Given the description of an element on the screen output the (x, y) to click on. 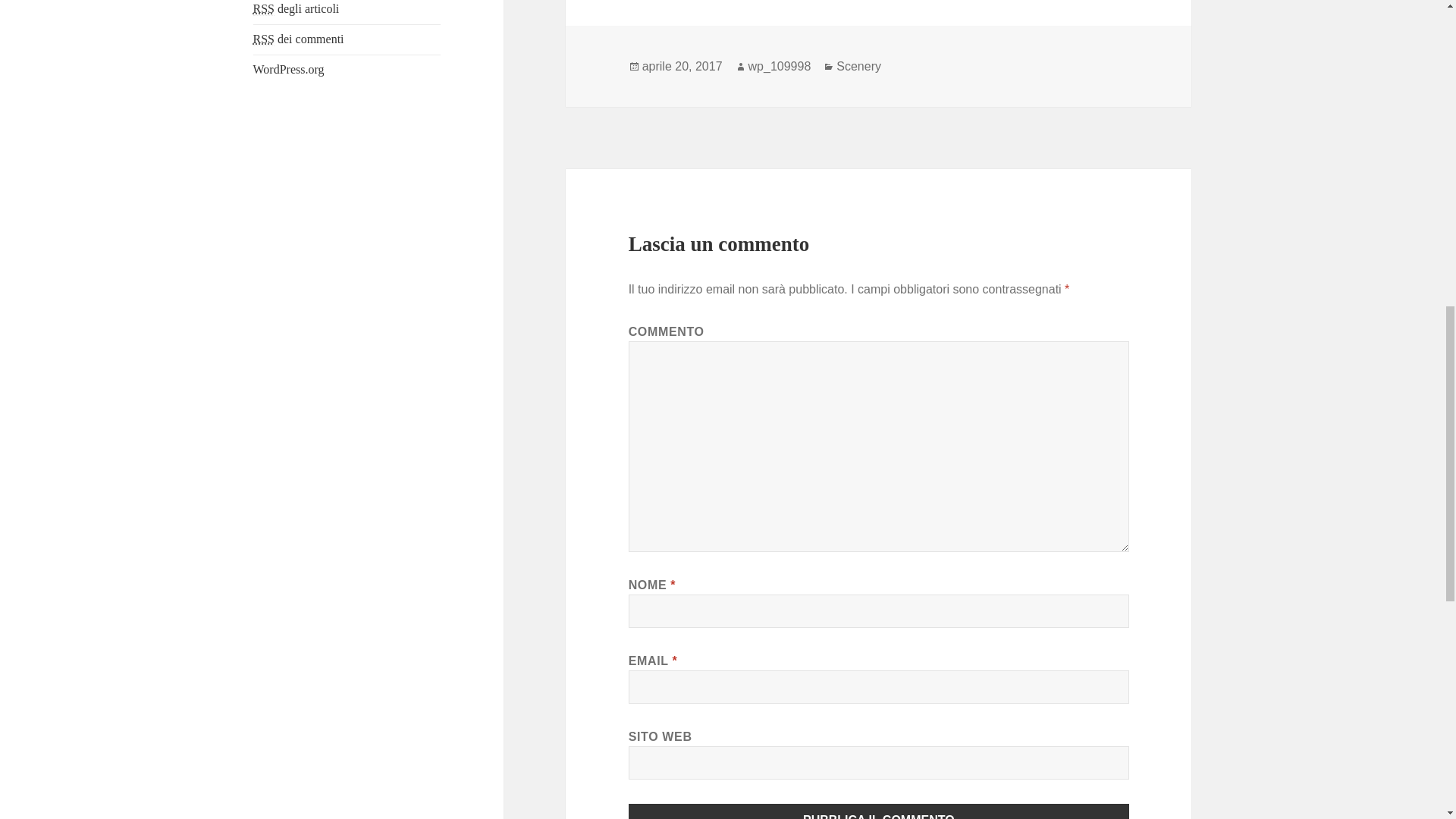
RSS dei commenti (298, 38)
Pubblica il commento (878, 811)
WordPress.org (288, 69)
Really Simple Syndication (264, 38)
RSS degli articoli (296, 8)
Pubblica il commento (878, 811)
aprile 20, 2017 (682, 66)
Scenery (857, 66)
Really Simple Syndication (264, 8)
